Given the description of an element on the screen output the (x, y) to click on. 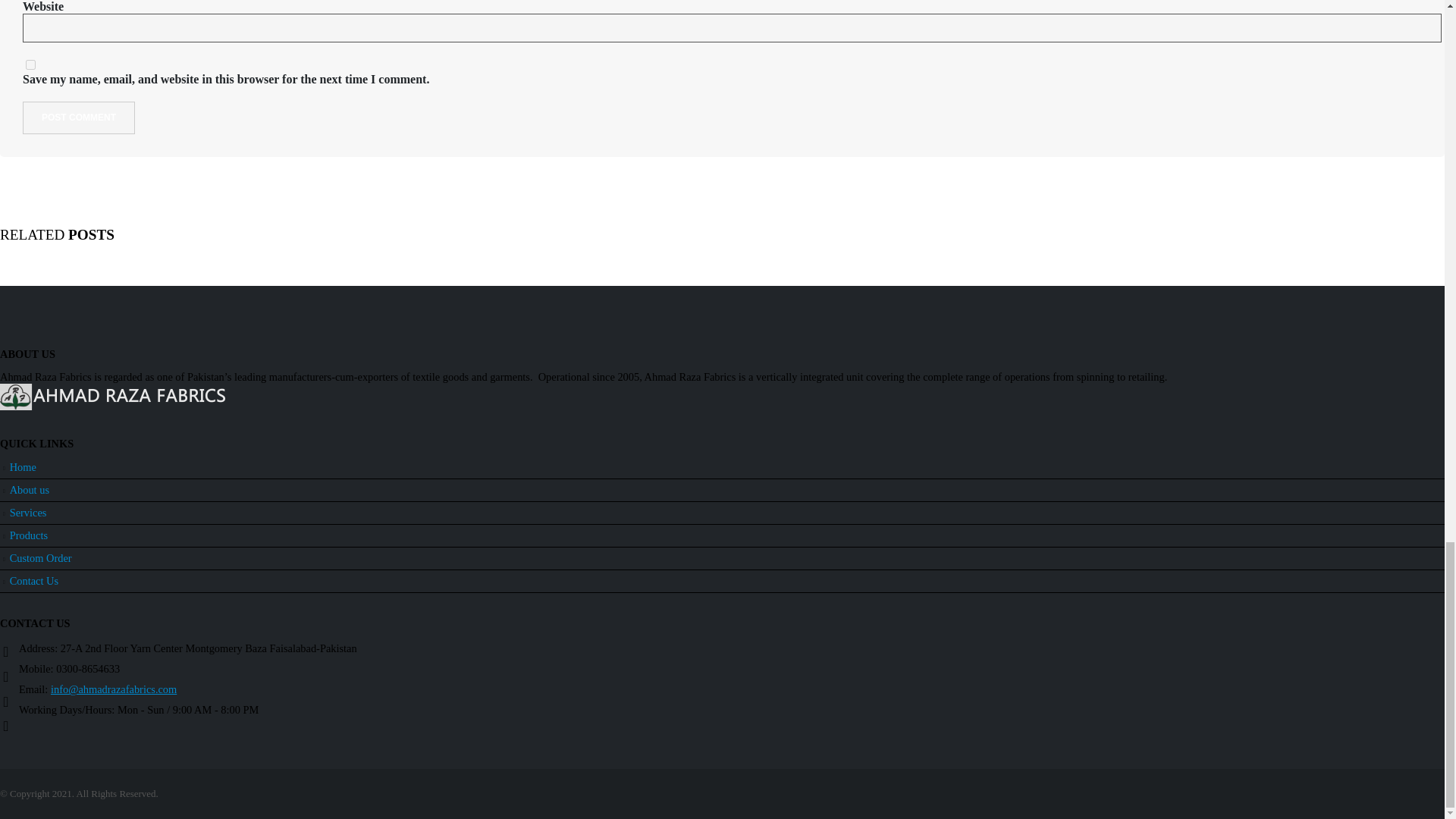
yes (30, 64)
Post Comment (79, 117)
Post Comment (79, 117)
